Given the description of an element on the screen output the (x, y) to click on. 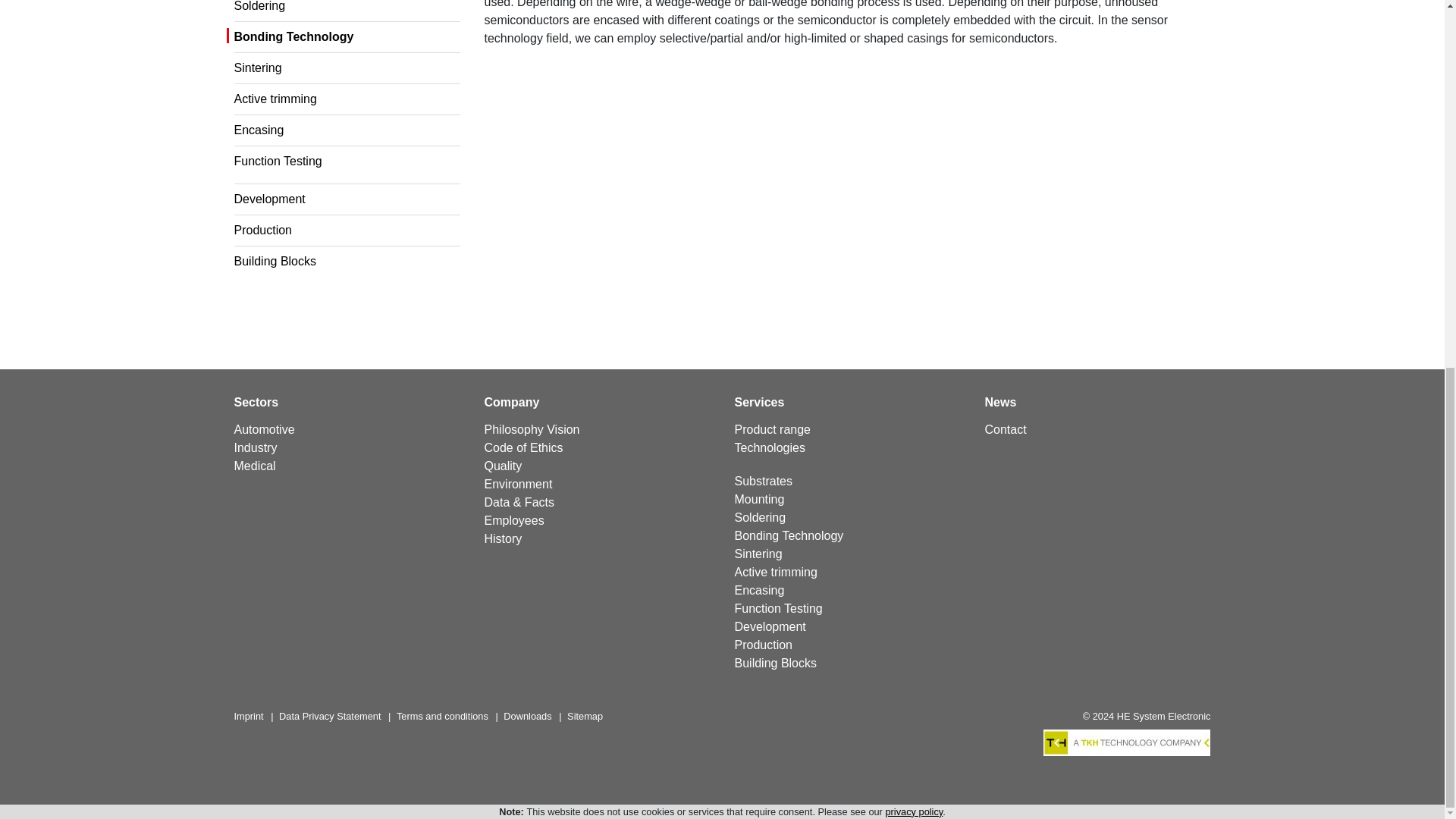
Industry (254, 447)
News (1000, 401)
Company (510, 401)
Building Blocks (273, 260)
Active trimming (273, 98)
Automotive (263, 429)
Function Testing (276, 160)
Services (758, 401)
Medical (253, 465)
Production (262, 229)
